Given the description of an element on the screen output the (x, y) to click on. 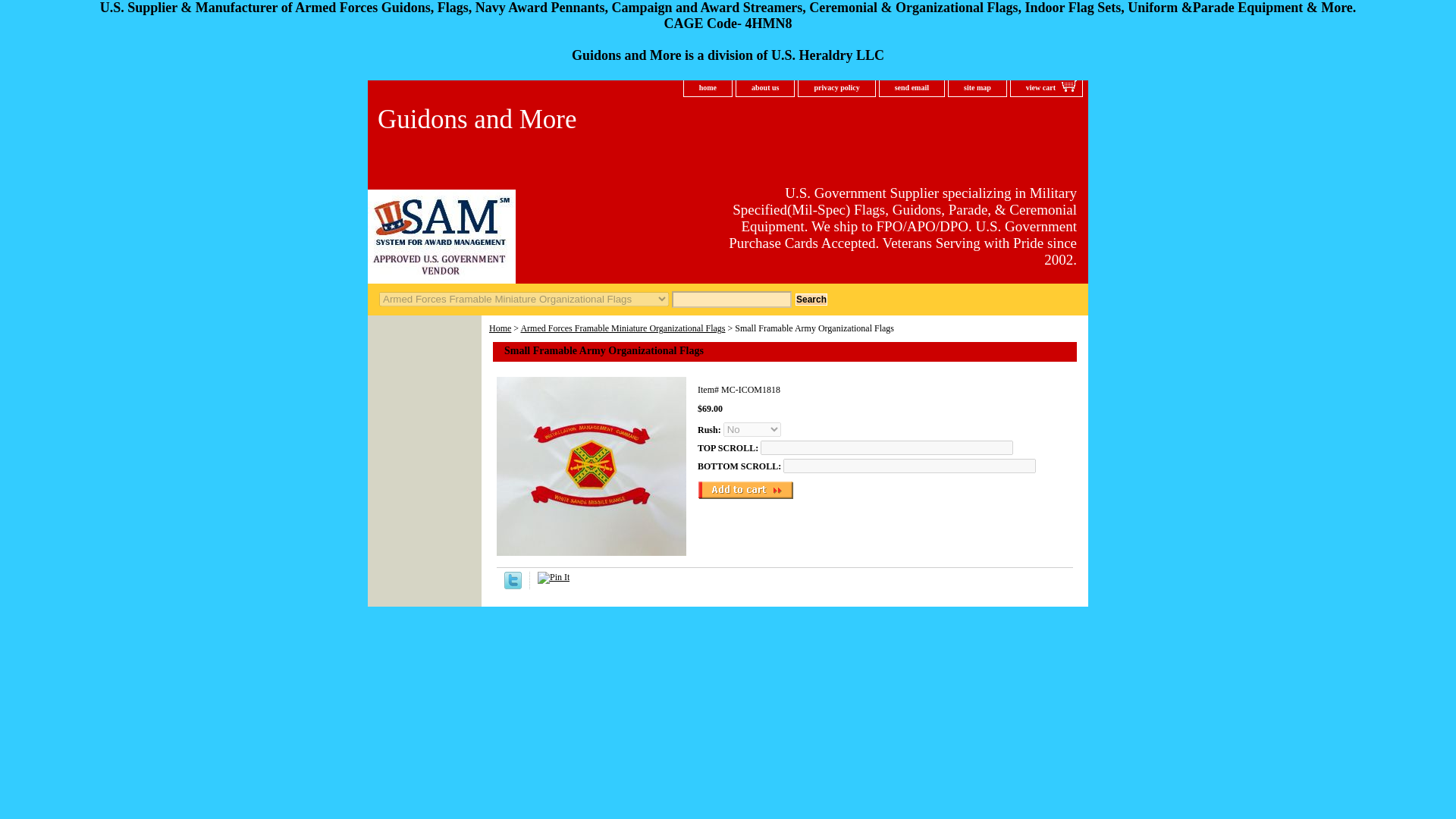
Armed Forces Framable Miniature Organizational Flags (622, 327)
about us (764, 88)
Tweet (512, 585)
view cart (1045, 88)
Search (810, 299)
Guidons and More (557, 121)
site map (977, 88)
Search (810, 299)
Guidons and More  (557, 121)
Small Framable Army Organizational Flags (590, 466)
send email (911, 88)
Add to cart (745, 489)
privacy policy (836, 88)
Pin It (553, 577)
Home (500, 327)
